Given the description of an element on the screen output the (x, y) to click on. 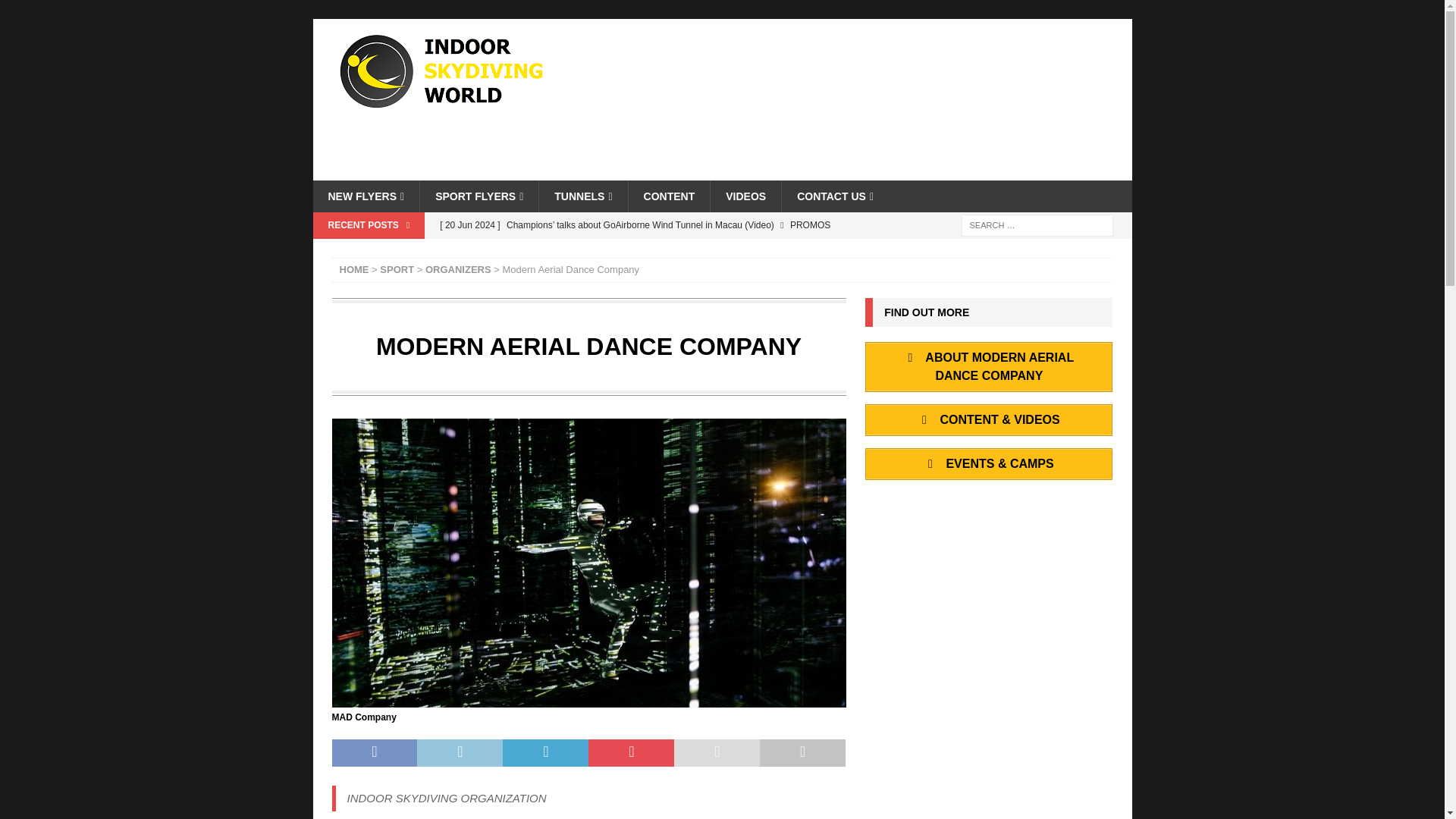
SPORT FLYERS (478, 196)
NEW FLYERS (366, 196)
Advertisement (854, 99)
